Given the description of an element on the screen output the (x, y) to click on. 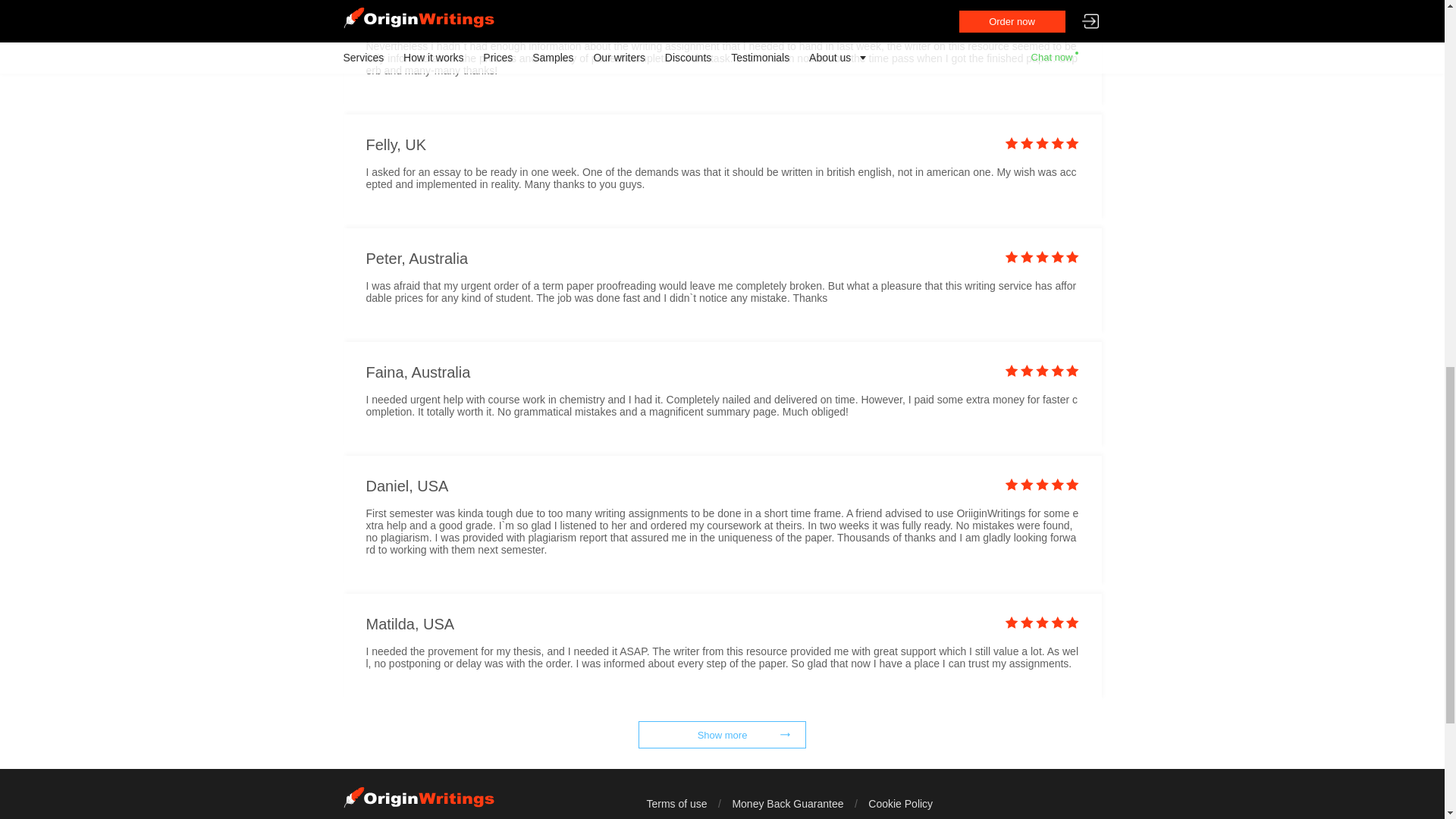
Cookie Policy (900, 803)
Show more (722, 734)
Terms of use (676, 803)
Money Back Guarantee (787, 803)
